Given the description of an element on the screen output the (x, y) to click on. 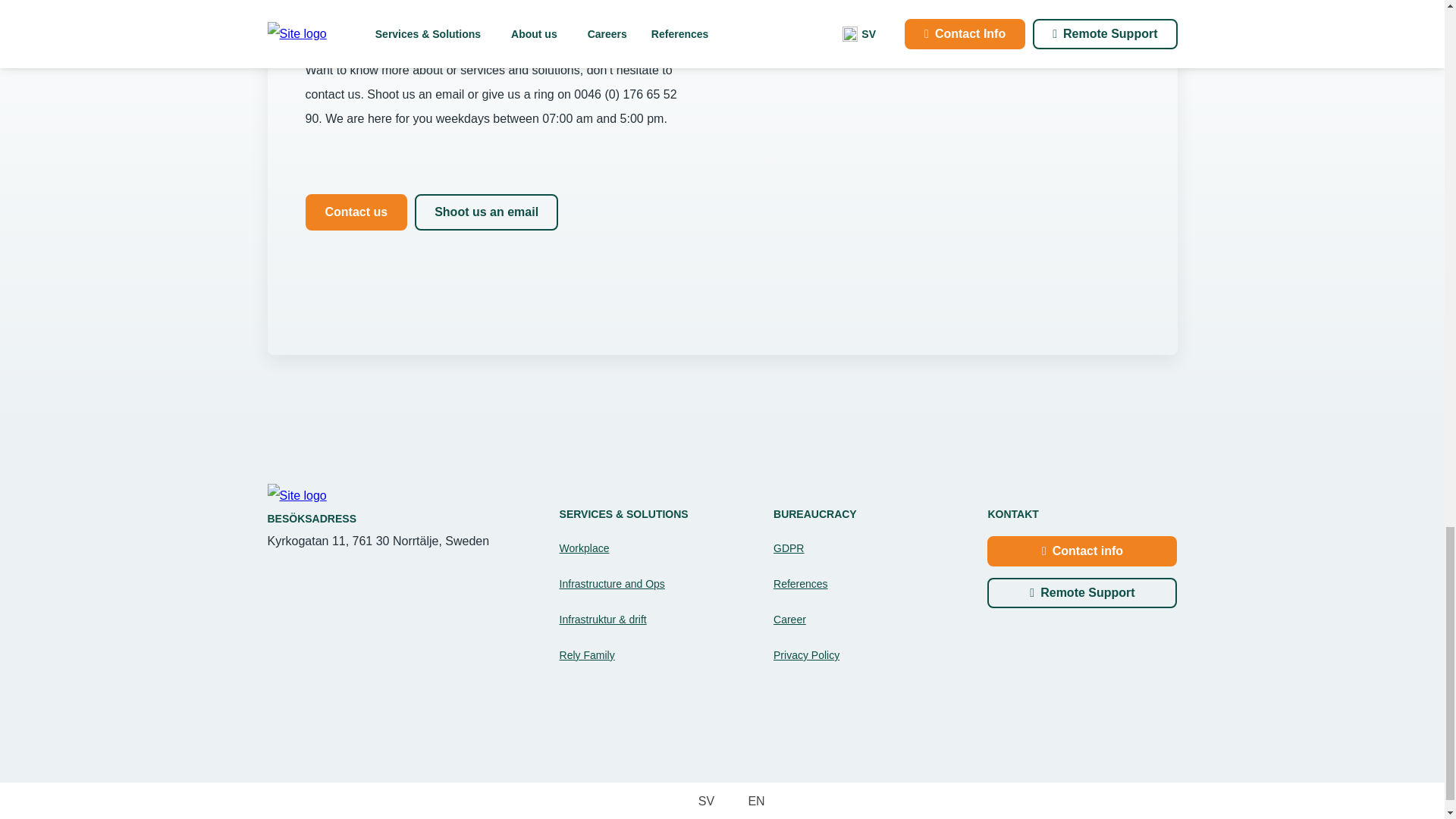
Privacy Policy (806, 654)
Contact info (1081, 551)
Shoot us an email (485, 212)
Rely IT (296, 495)
GDPR (788, 548)
Career (789, 619)
References (800, 583)
Workplace (584, 548)
Infrastructure and Ops (612, 583)
Remote Support (1081, 593)
Rely Family (586, 654)
